Given the description of an element on the screen output the (x, y) to click on. 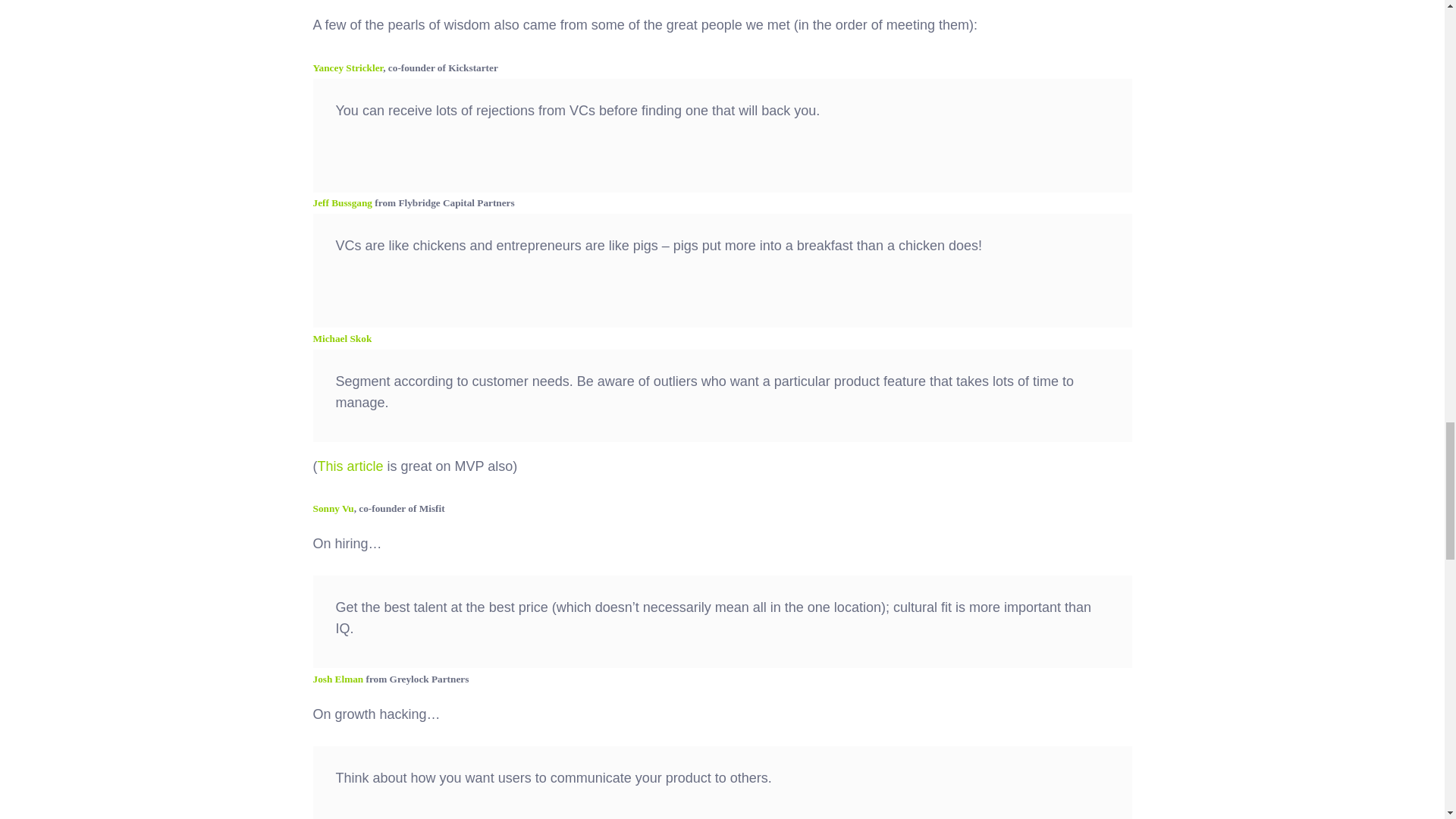
Sonny Vu (333, 508)
This article (349, 466)
Josh Elman (337, 678)
Jeff Bussgang (342, 202)
Yancey Strickler (347, 67)
Michael Skok (342, 337)
